Given the description of an element on the screen output the (x, y) to click on. 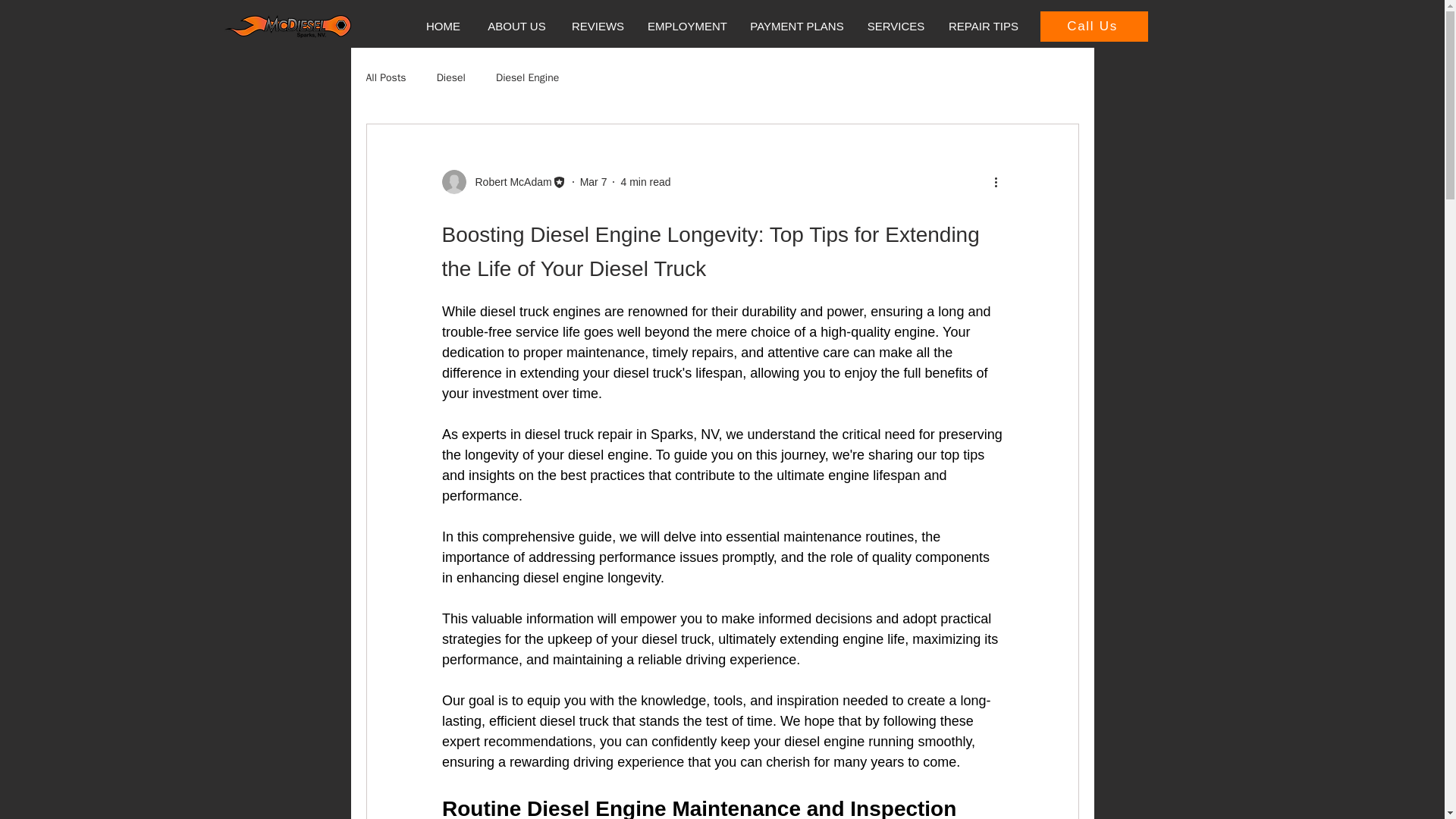
REVIEWS (598, 26)
Call Us (1094, 26)
All Posts (385, 78)
Robert McAdam (508, 182)
Mar 7 (593, 182)
Diesel (450, 78)
4 min read (644, 182)
HOME (443, 26)
SERVICES (896, 26)
ABOUT US (516, 26)
